Given the description of an element on the screen output the (x, y) to click on. 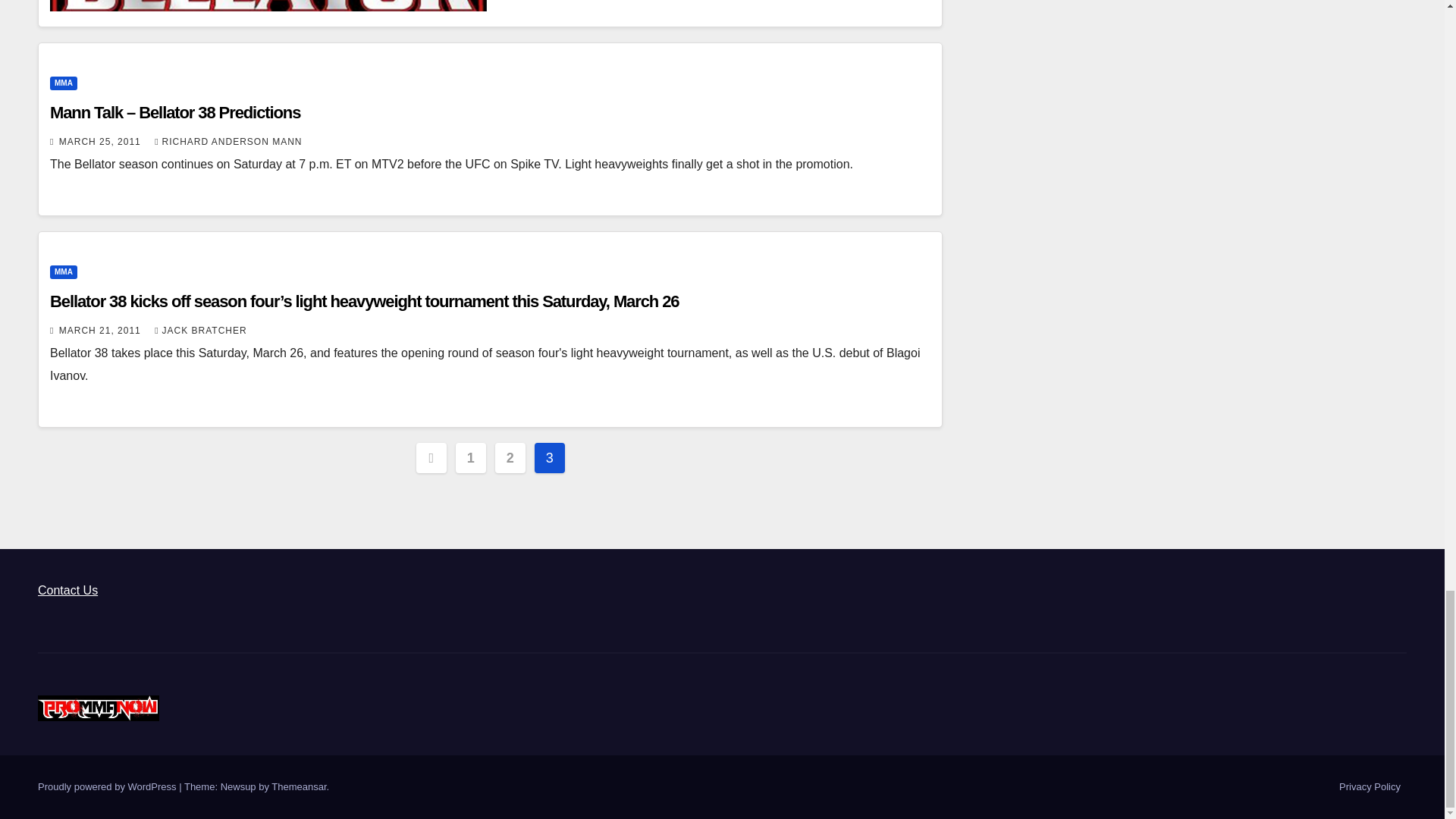
Privacy Policy (1369, 786)
